Given the description of an element on the screen output the (x, y) to click on. 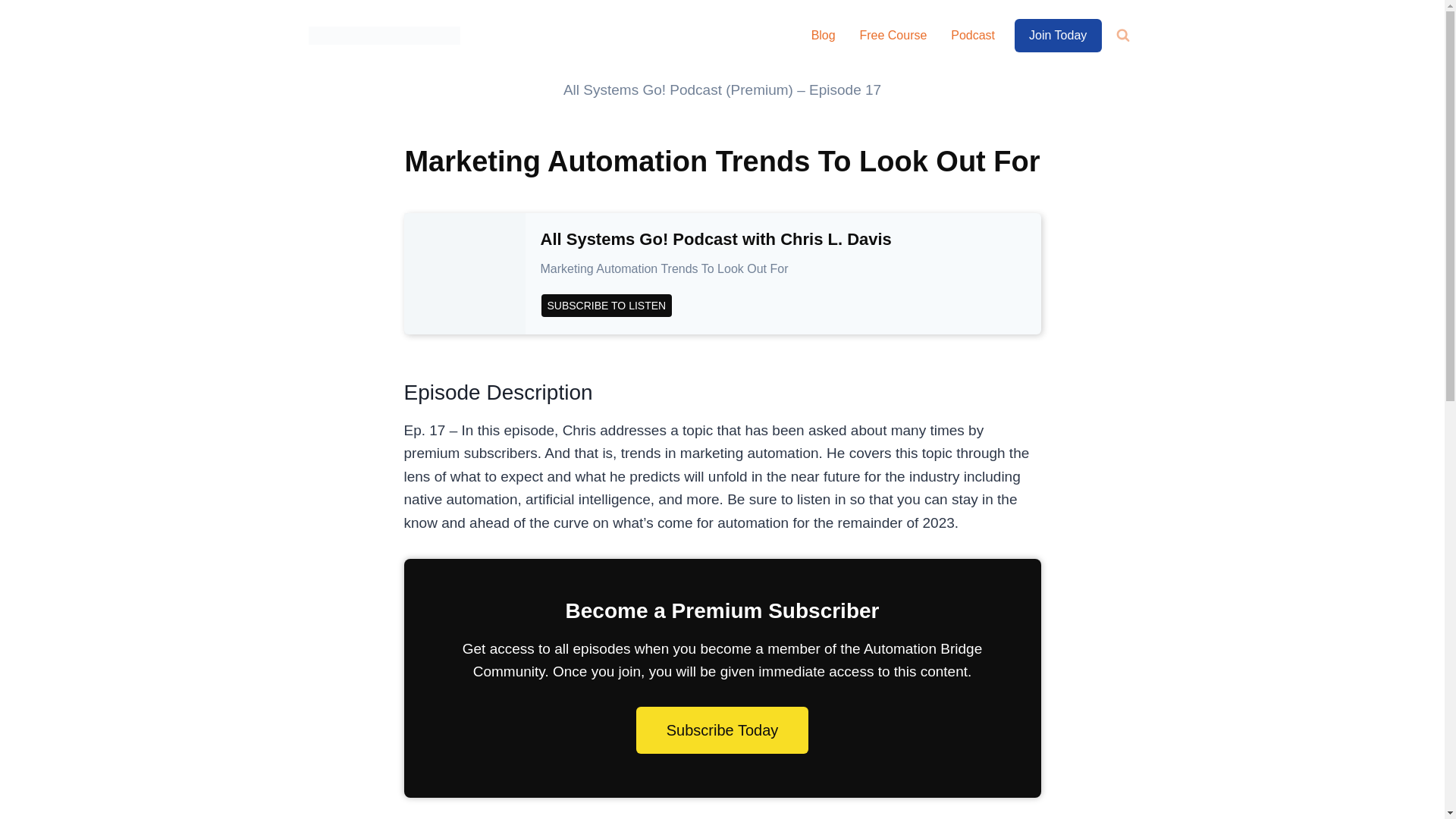
Blog (823, 35)
Subscribe Today (722, 729)
Free Course (893, 35)
Join Today (1058, 35)
Podcast (973, 35)
